Given the description of an element on the screen output the (x, y) to click on. 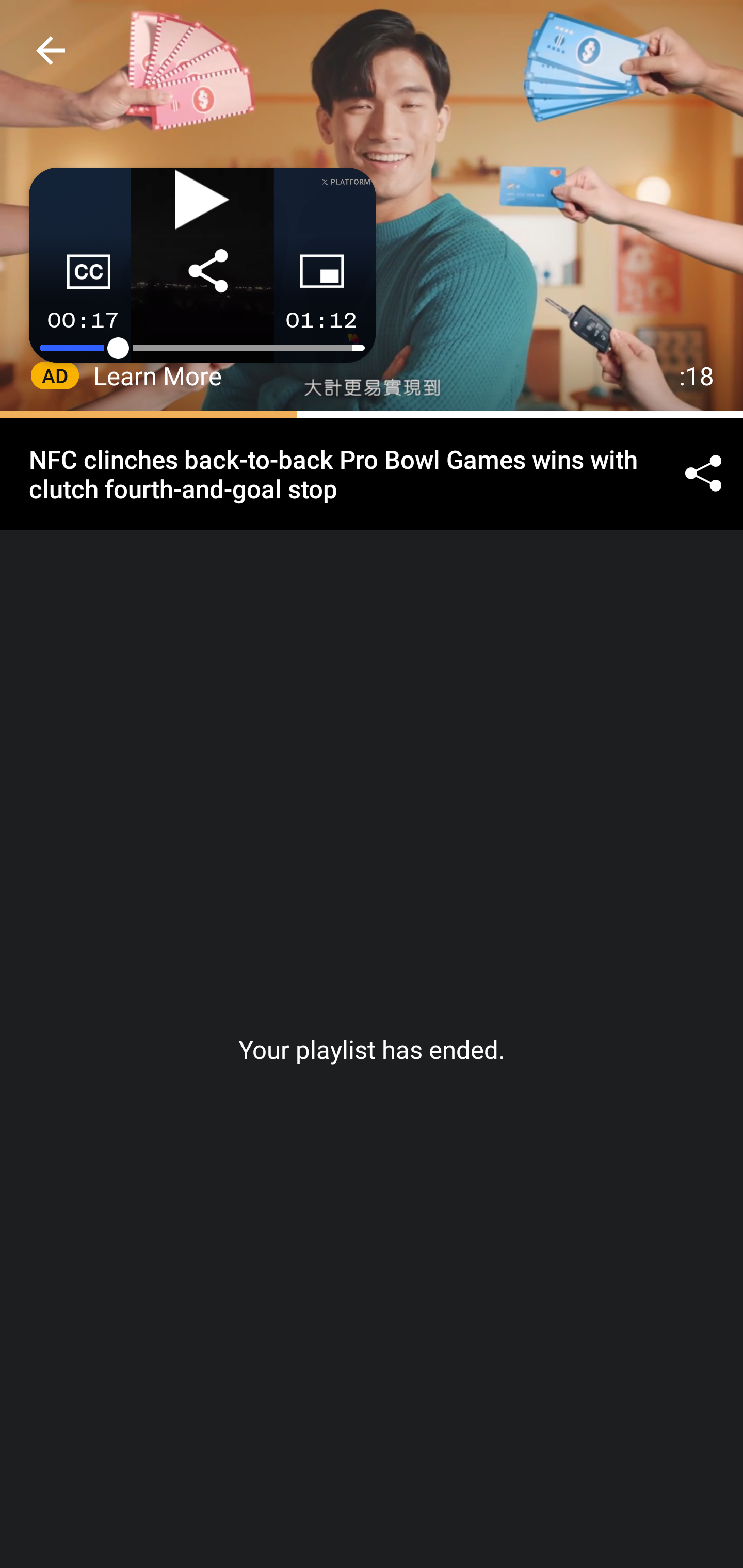
Navigate up (50, 50)
Learn More (157, 375)
Share © (703, 474)
